Given the description of an element on the screen output the (x, y) to click on. 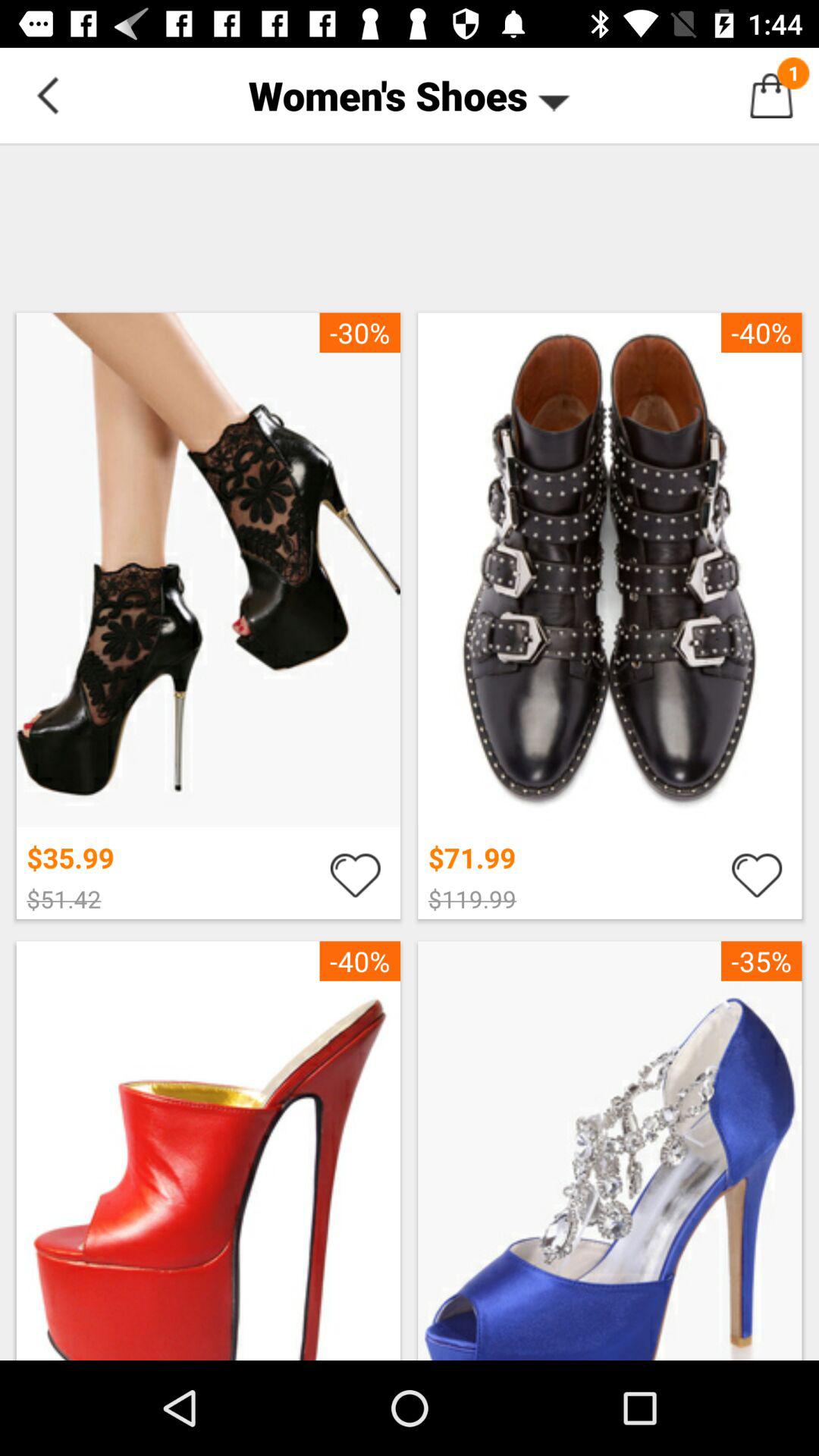
go do back (47, 95)
